Given the description of an element on the screen output the (x, y) to click on. 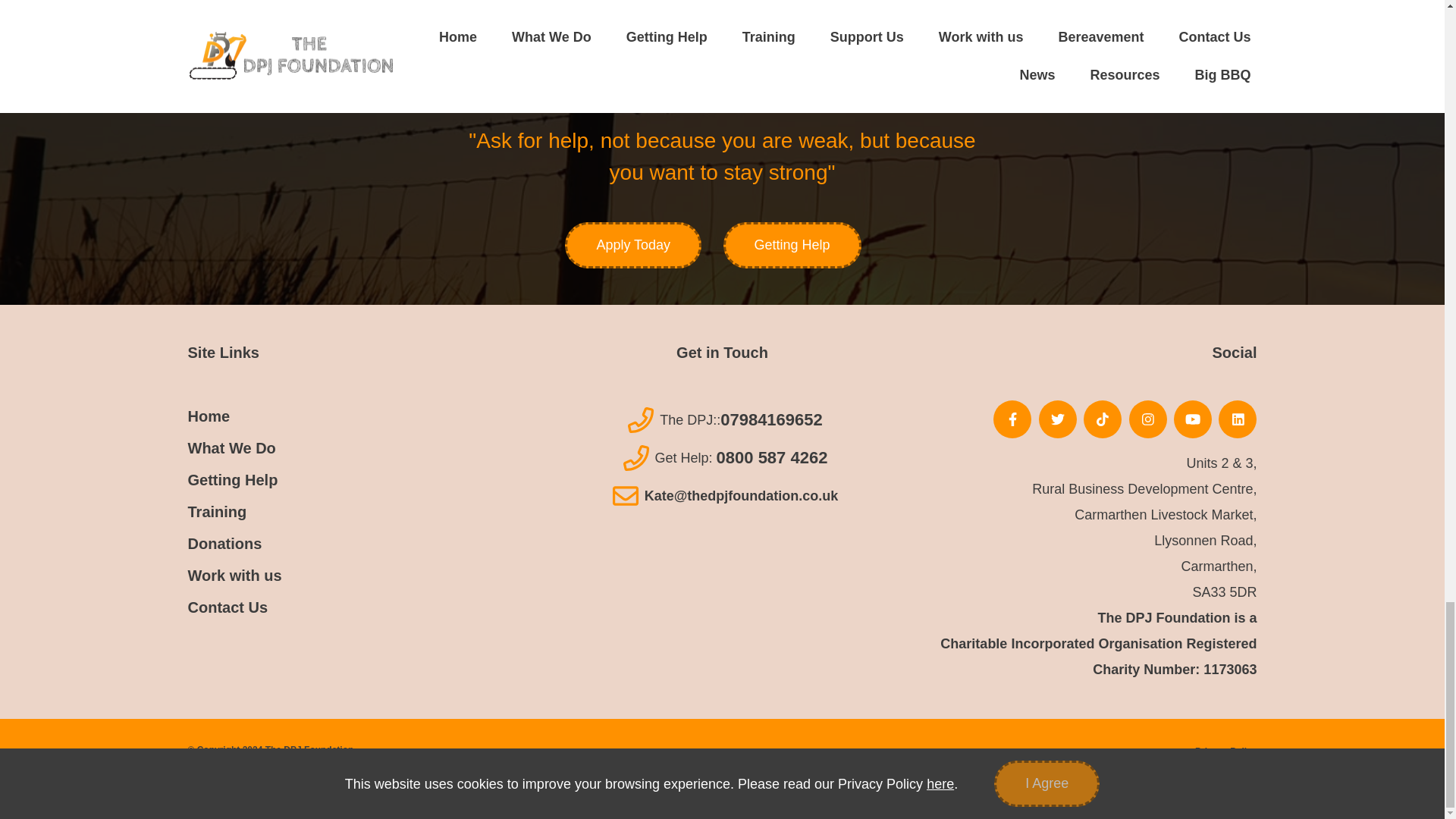
0800 587 4262 (772, 457)
Donations (224, 543)
07984169652 (771, 420)
Getting Help (232, 479)
Getting Help (792, 244)
Work with us (234, 575)
Training (217, 511)
Apply Today (632, 244)
Home (208, 416)
Contact Us (227, 606)
